Given the description of an element on the screen output the (x, y) to click on. 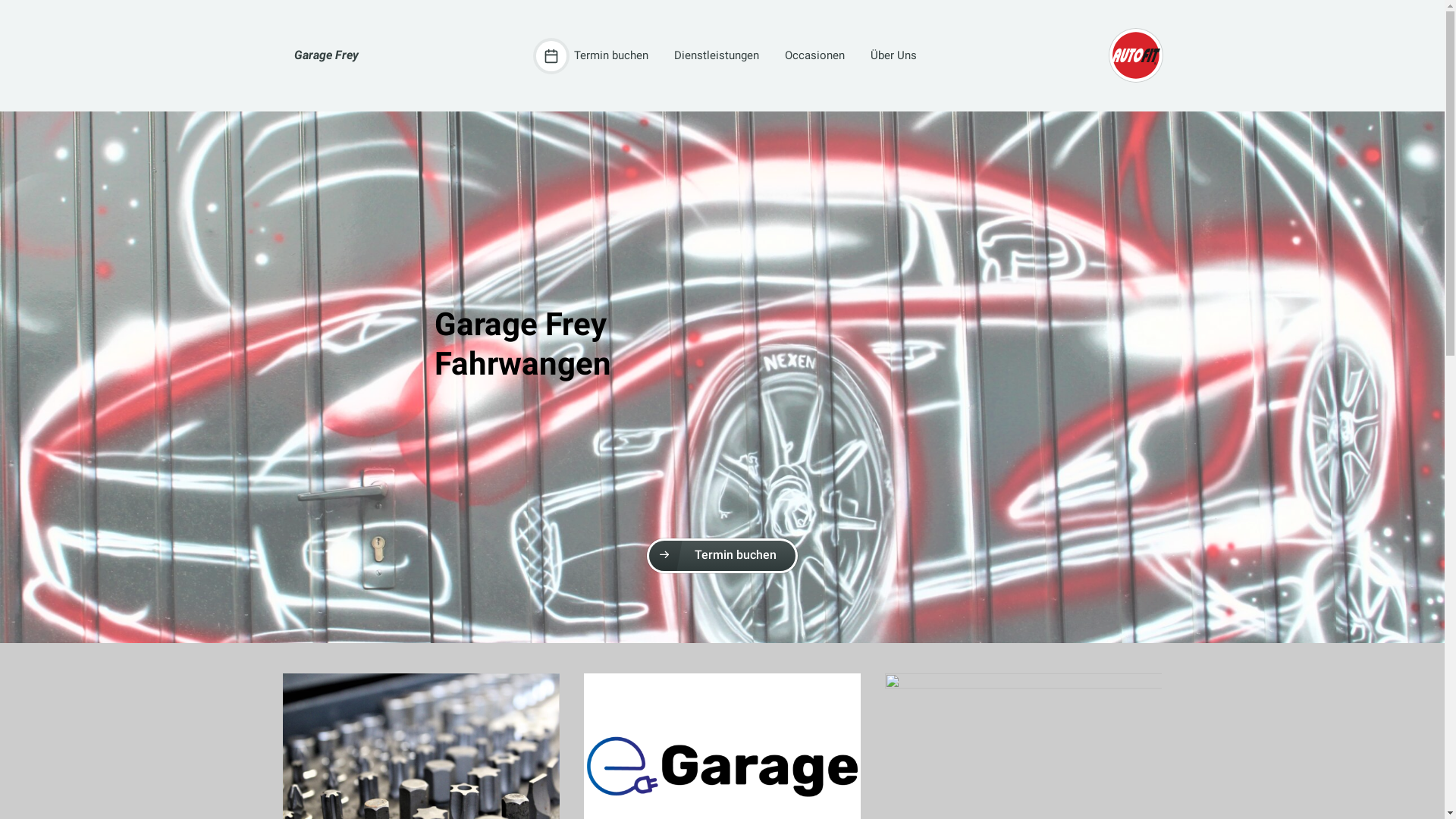
Termin buchen Element type: text (722, 555)
Garage Frey Element type: text (326, 55)
Termin buchen Element type: text (591, 55)
Occasionen Element type: text (809, 55)
Dienstleistungen Element type: text (711, 55)
